Given the description of an element on the screen output the (x, y) to click on. 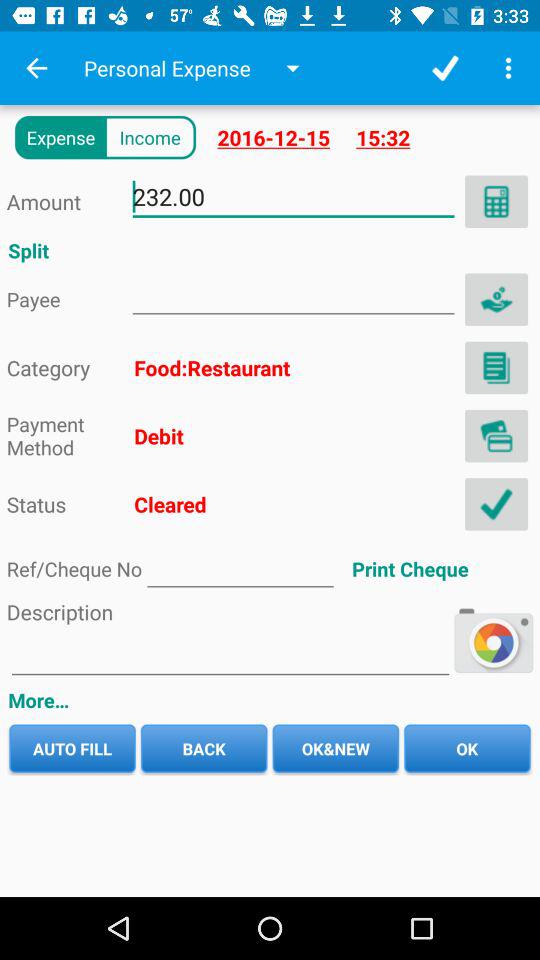
address (496, 367)
